Given the description of an element on the screen output the (x, y) to click on. 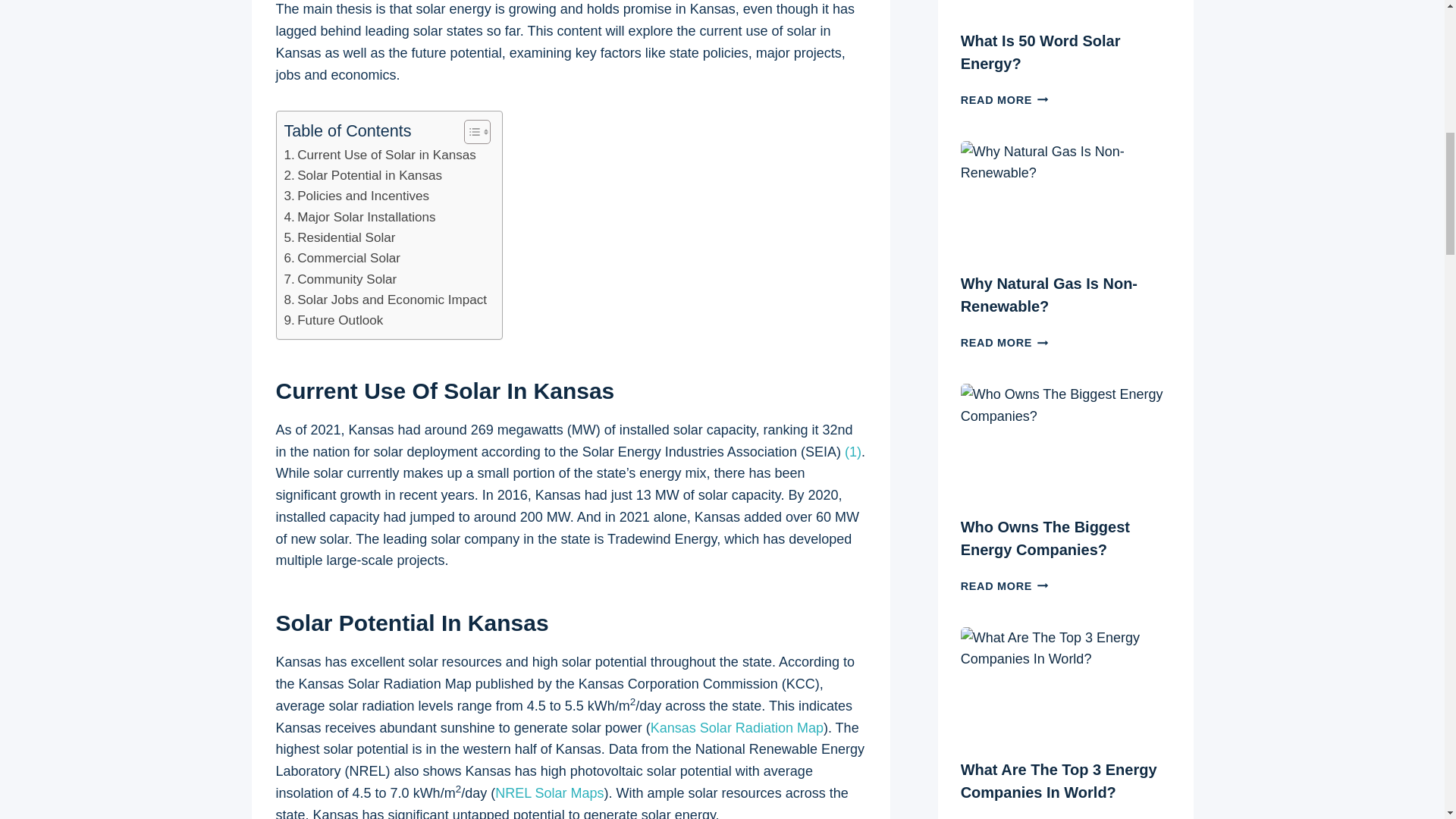
Commercial Solar (341, 258)
Residential Solar (338, 237)
Solar Jobs and Economic Impact (384, 299)
NREL Solar Maps (549, 792)
Commercial Solar (341, 258)
Major Solar Installations (359, 217)
Kansas Solar Radiation Map (737, 727)
Future Outlook (332, 320)
Policies and Incentives (356, 195)
Community Solar (339, 279)
